Given the description of an element on the screen output the (x, y) to click on. 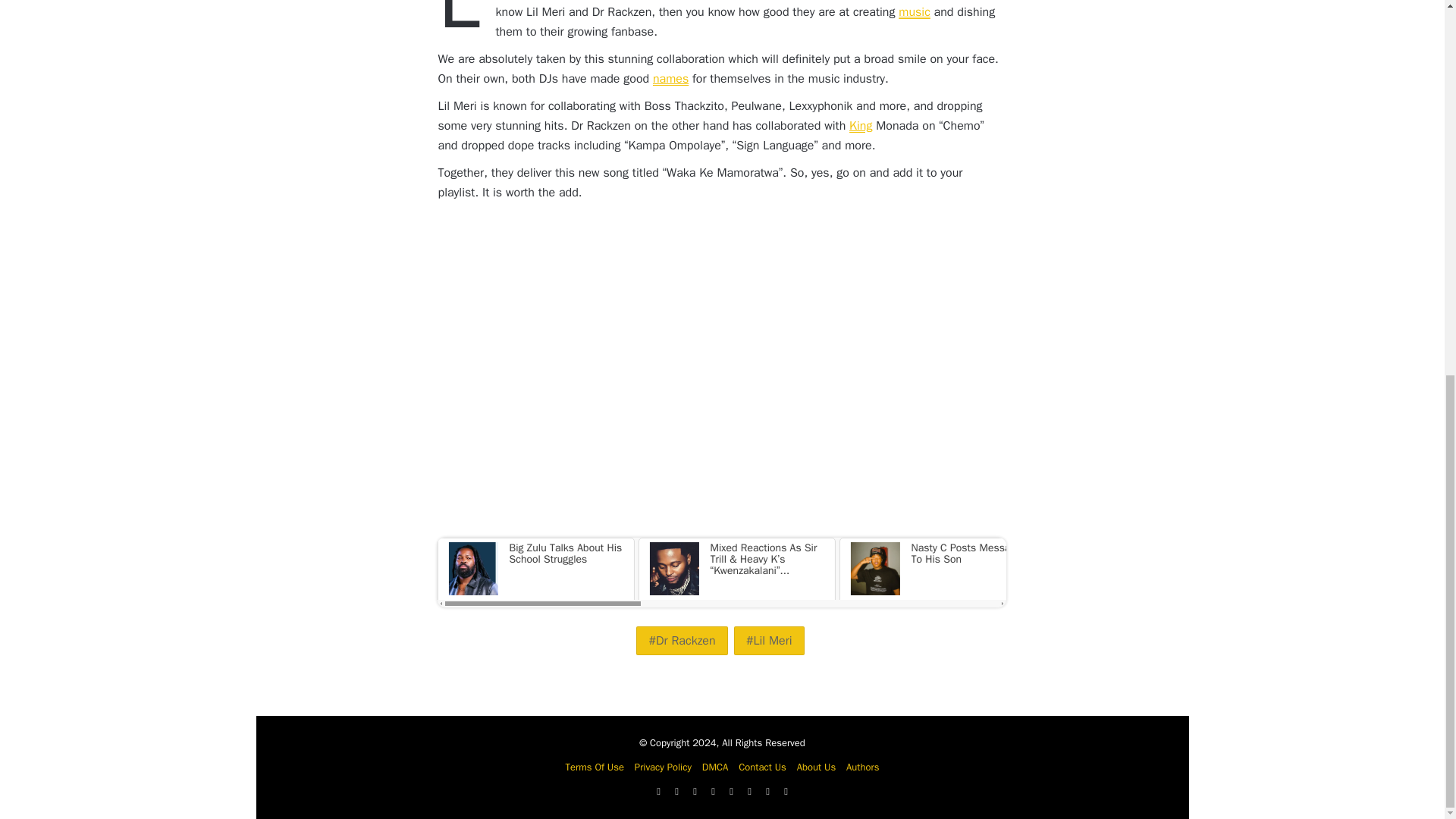
music (914, 11)
Nasty C Posts Message To His Son 4 (873, 568)
Kabza De Small Announces Delay In Club Launch 6 (1273, 568)
Big Zulu Talks About His School Struggles (535, 566)
King (860, 125)
Kabza De Small Announces Delay In Club Launch (1339, 566)
Nasty C Posts Message To His Son (937, 566)
Big Zulu Talks About His School Struggles 2 (471, 568)
names (670, 78)
